Given the description of an element on the screen output the (x, y) to click on. 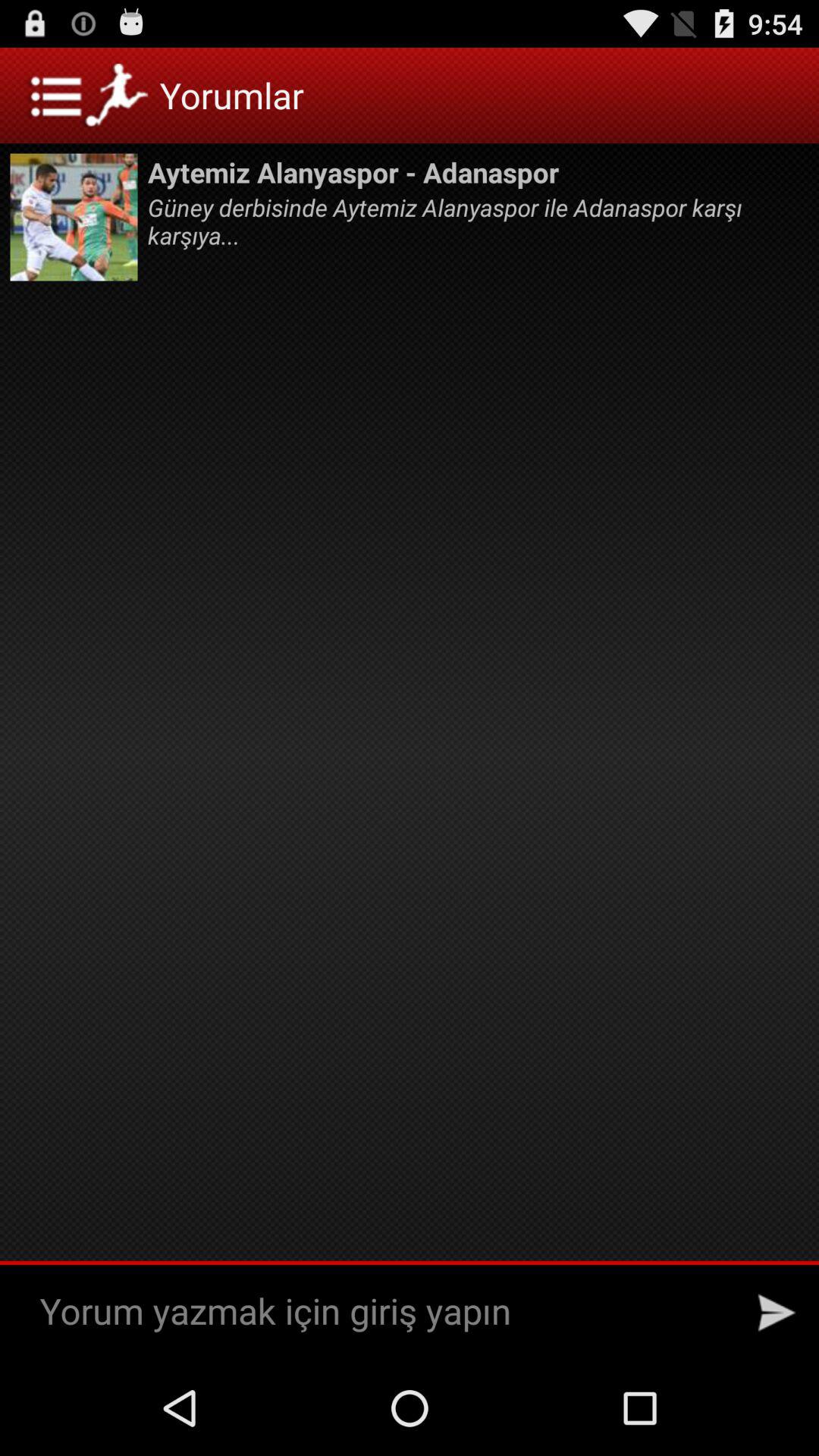
write/comment area (382, 1312)
